Given the description of an element on the screen output the (x, y) to click on. 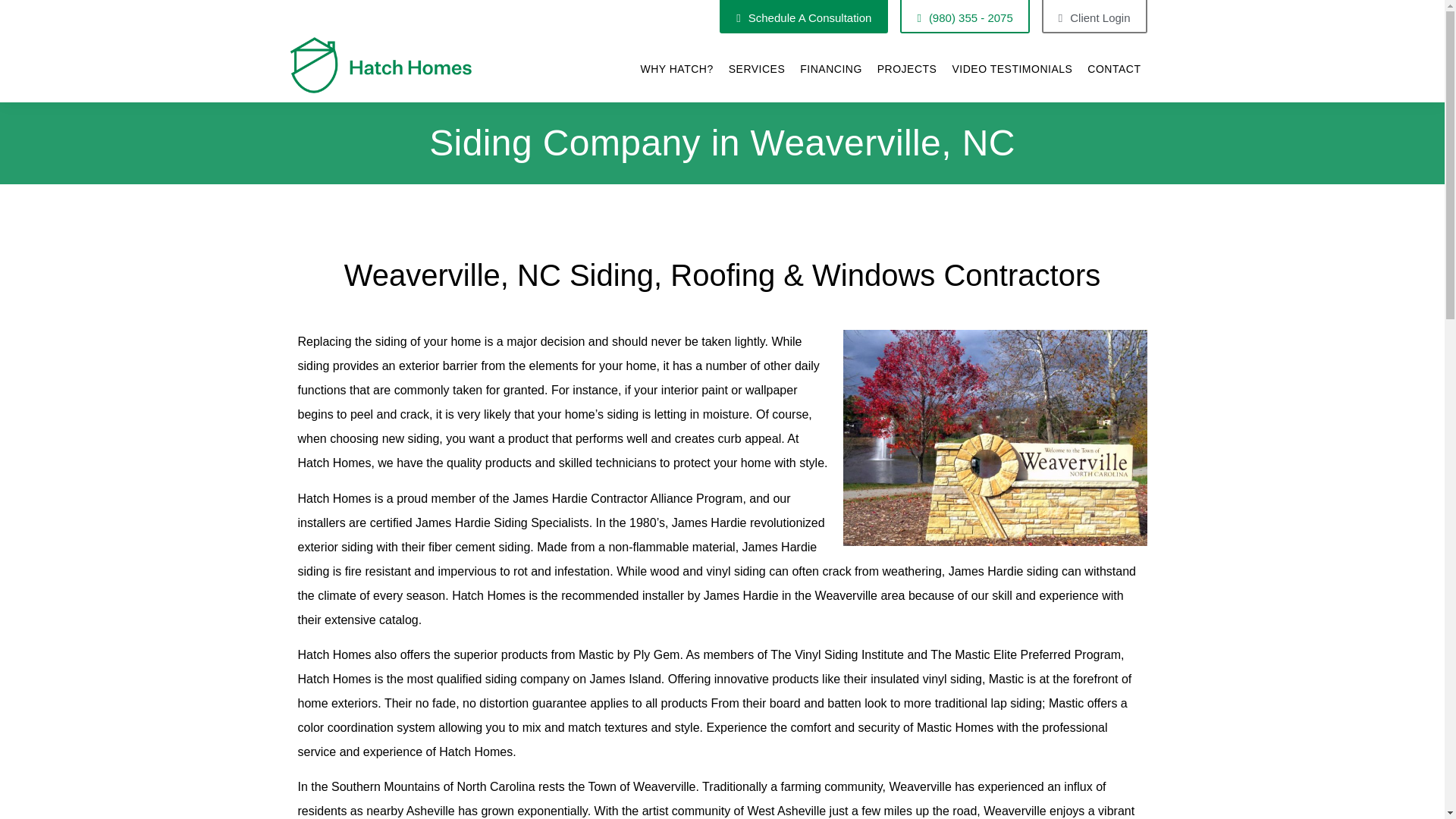
Client Login (1094, 16)
SERVICES (756, 68)
WHY HATCH? (675, 68)
Schedule A Consultation (803, 16)
